Given the description of an element on the screen output the (x, y) to click on. 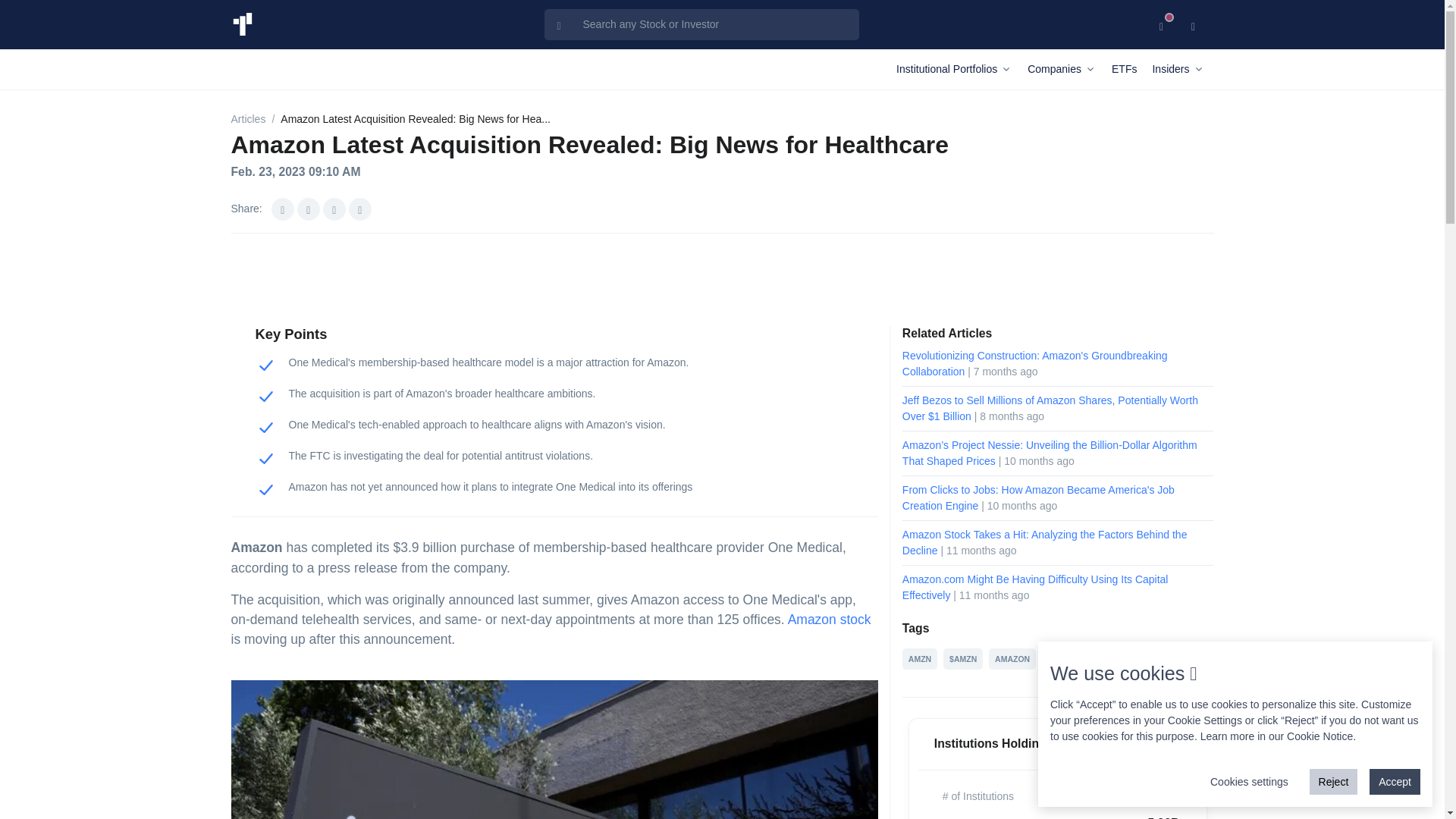
Companies (1066, 69)
Institutional Portfolios (959, 69)
TickerTracker.io (241, 24)
